Given the description of an element on the screen output the (x, y) to click on. 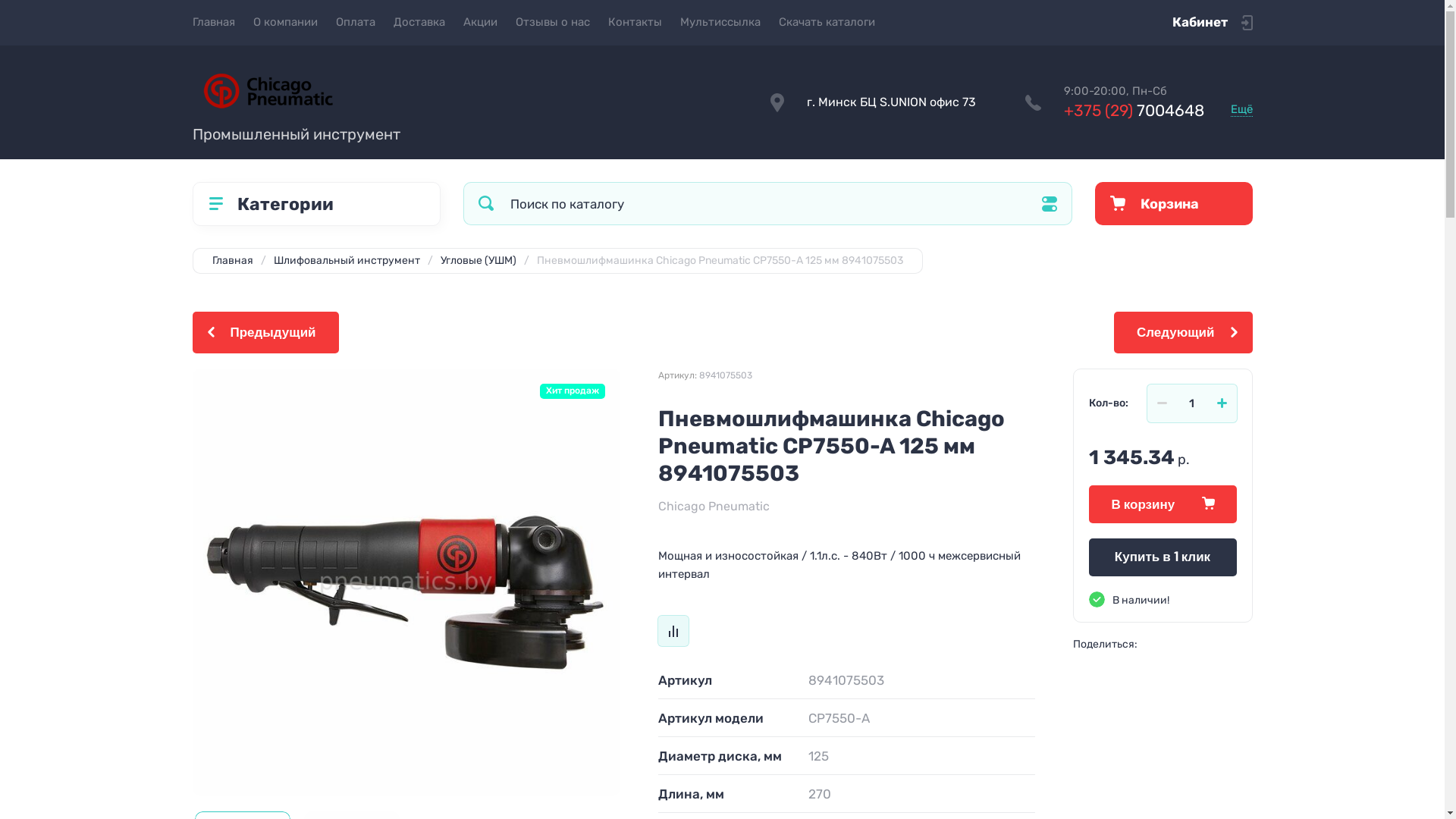
Chicago Pneumatic Element type: text (713, 505)
+375 (29)7004648 Element type: text (1133, 109)
+ Element type: text (1221, 403)
